Given the description of an element on the screen output the (x, y) to click on. 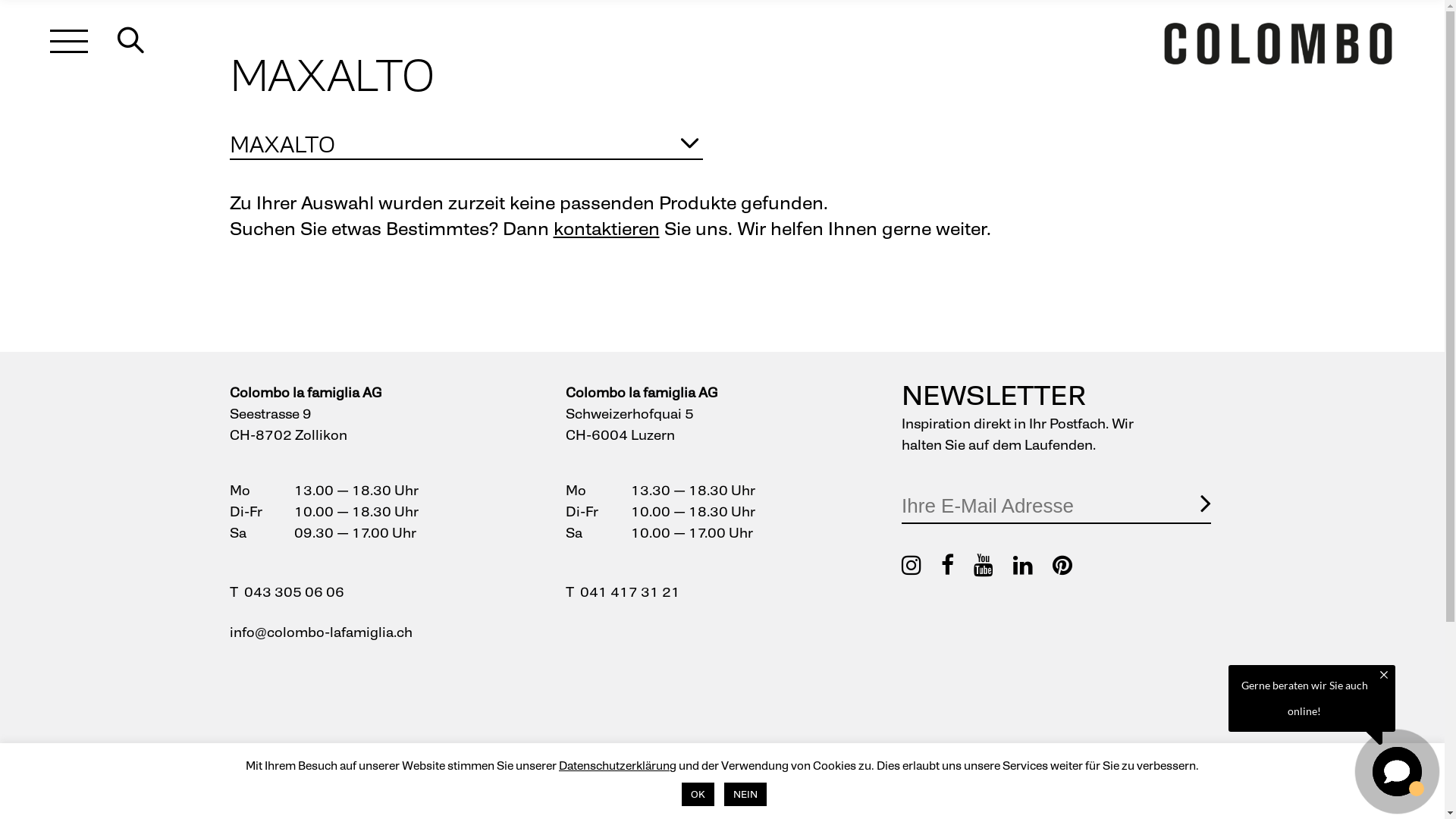
OK Element type: text (697, 794)
PRODUKTE Element type: text (268, 762)
Beratung Element type: text (455, 785)
043 305 06 06 Element type: text (294, 591)
NEIN Element type: text (745, 794)
SERVICE Element type: text (457, 762)
041 417 31 21 Element type: text (630, 591)
info@colombo-lafamiglia.ch Element type: text (320, 631)
U Element type: text (1082, 408)
STANDORTE Element type: text (863, 762)
Team Element type: text (1035, 785)
Benefits Element type: text (1043, 809)
REFERENZEN Element type: text (671, 762)
Innenarchitektur Element type: text (479, 809)
  Element type: text (136, 42)
kontaktieren Element type: text (606, 228)
Neuheiten Element type: text (262, 785)
Luzern Element type: text (842, 809)
  Element type: text (68, 41)
